Given the description of an element on the screen output the (x, y) to click on. 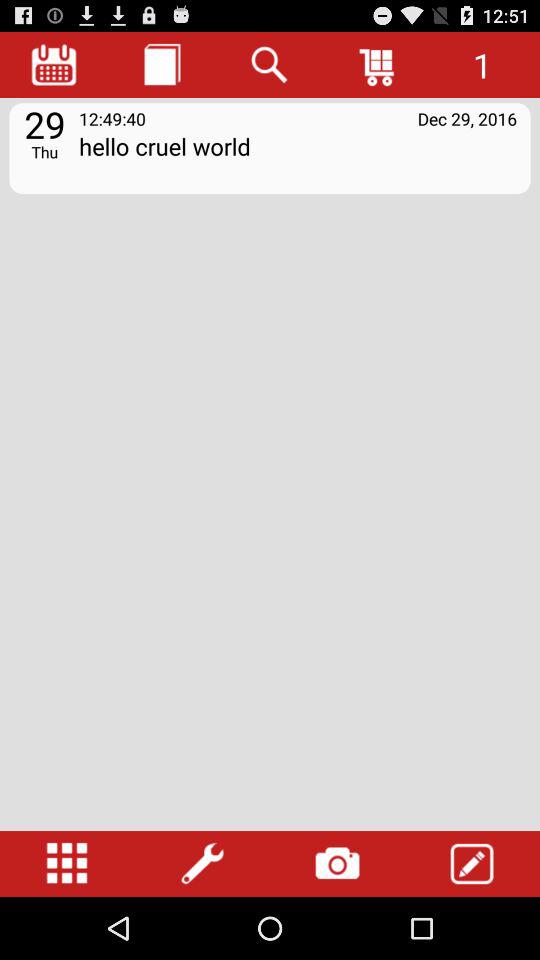
journal entries (161, 64)
